Given the description of an element on the screen output the (x, y) to click on. 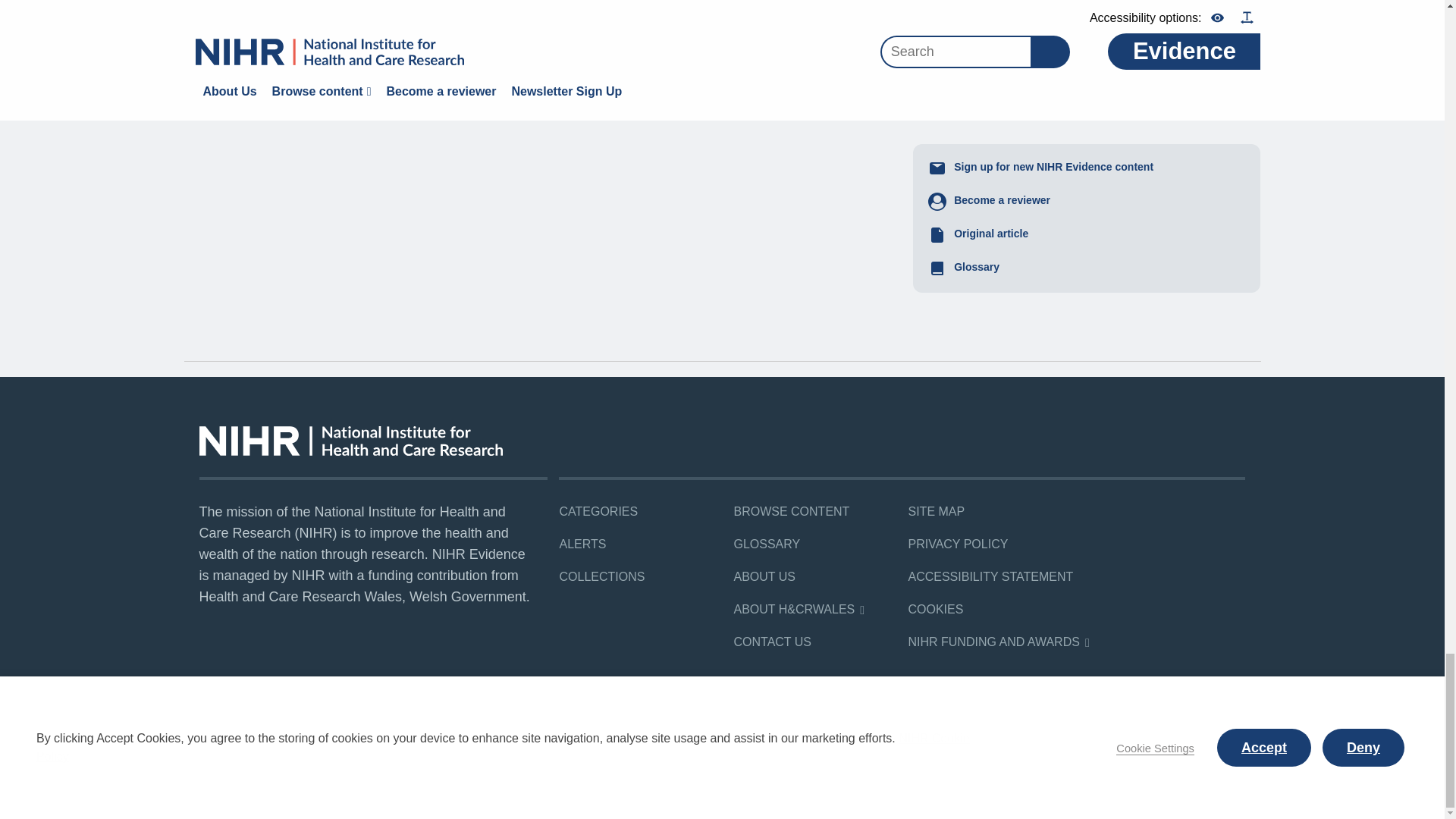
RSS (393, 753)
facebook (259, 753)
YouTube (360, 753)
Twitter (326, 753)
LinkedIn (293, 753)
